Given the description of an element on the screen output the (x, y) to click on. 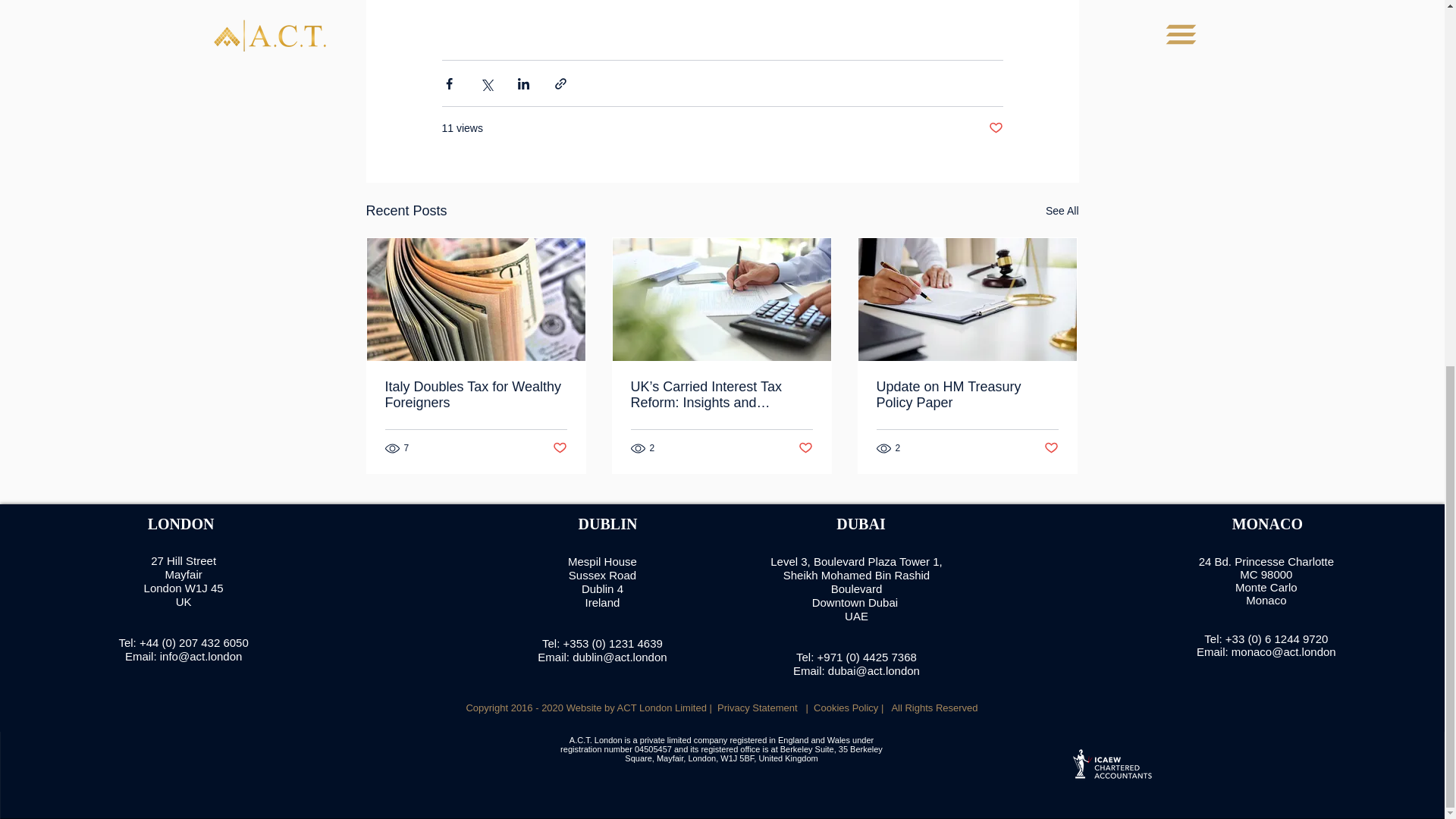
Privacy Statement (757, 707)
Post not marked as liked (804, 448)
See All (1061, 210)
Update on HM Treasury Policy Paper (967, 395)
Post not marked as liked (558, 448)
Cookies Policy (845, 707)
Post not marked as liked (1050, 448)
Italy Doubles Tax for Wealthy Foreigners (476, 395)
Post not marked as liked (995, 128)
